Given the description of an element on the screen output the (x, y) to click on. 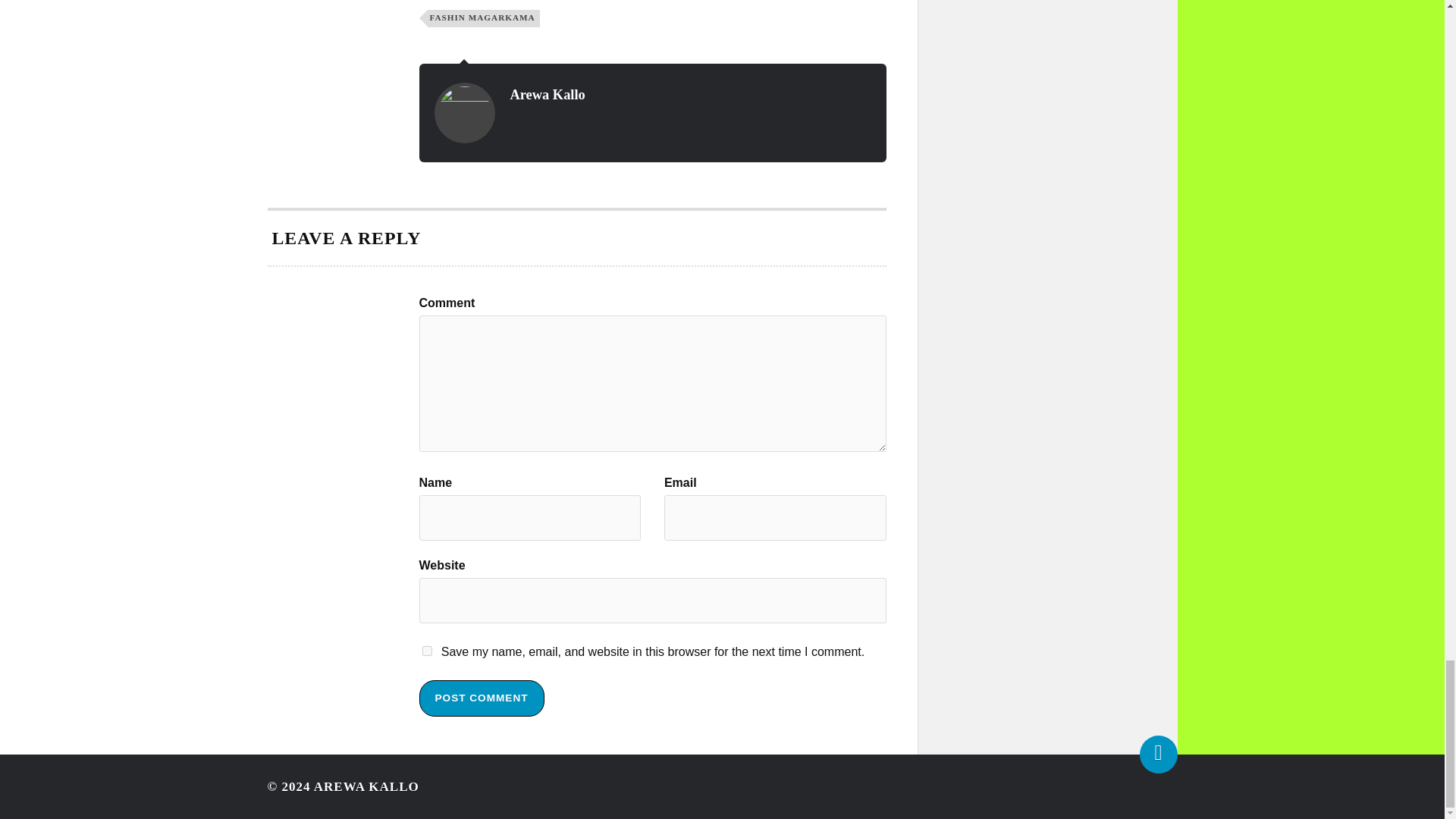
yes (426, 651)
Post Comment (481, 698)
